Given the description of an element on the screen output the (x, y) to click on. 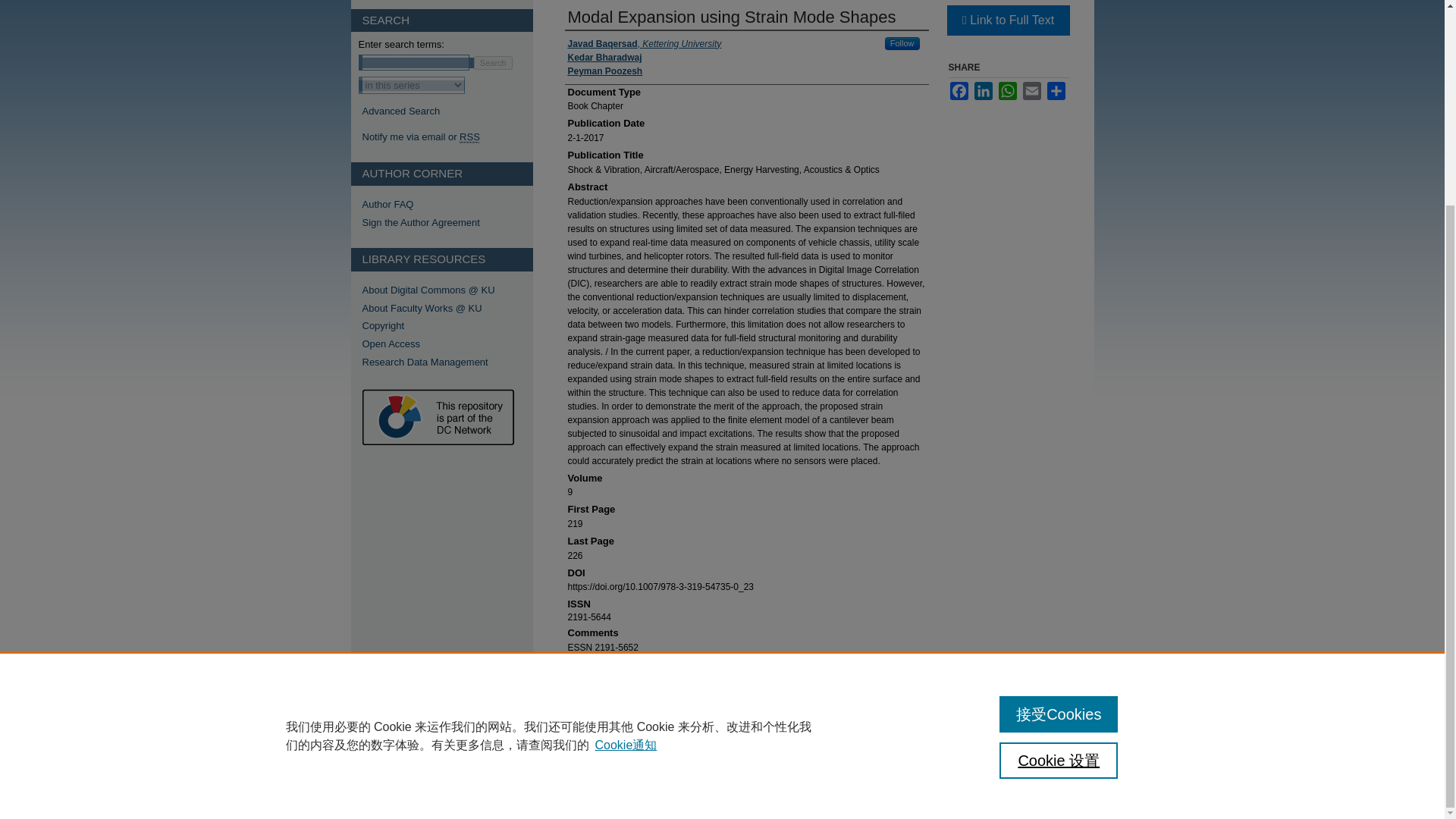
Notify me via email or RSS (447, 137)
WhatsApp (1006, 90)
LinkedIn (982, 90)
Javad Baqersad, Kettering University (643, 43)
Facebook (958, 90)
Email or RSS Notifications (447, 137)
Search (493, 62)
Peyman Poozesh (604, 70)
Search (493, 62)
Author FAQ (447, 204)
Kedar Bharadwaj (604, 57)
Link to Full Text (1007, 20)
Search (493, 62)
Advanced Search (401, 111)
Follow Javad Baqersad (902, 42)
